Given the description of an element on the screen output the (x, y) to click on. 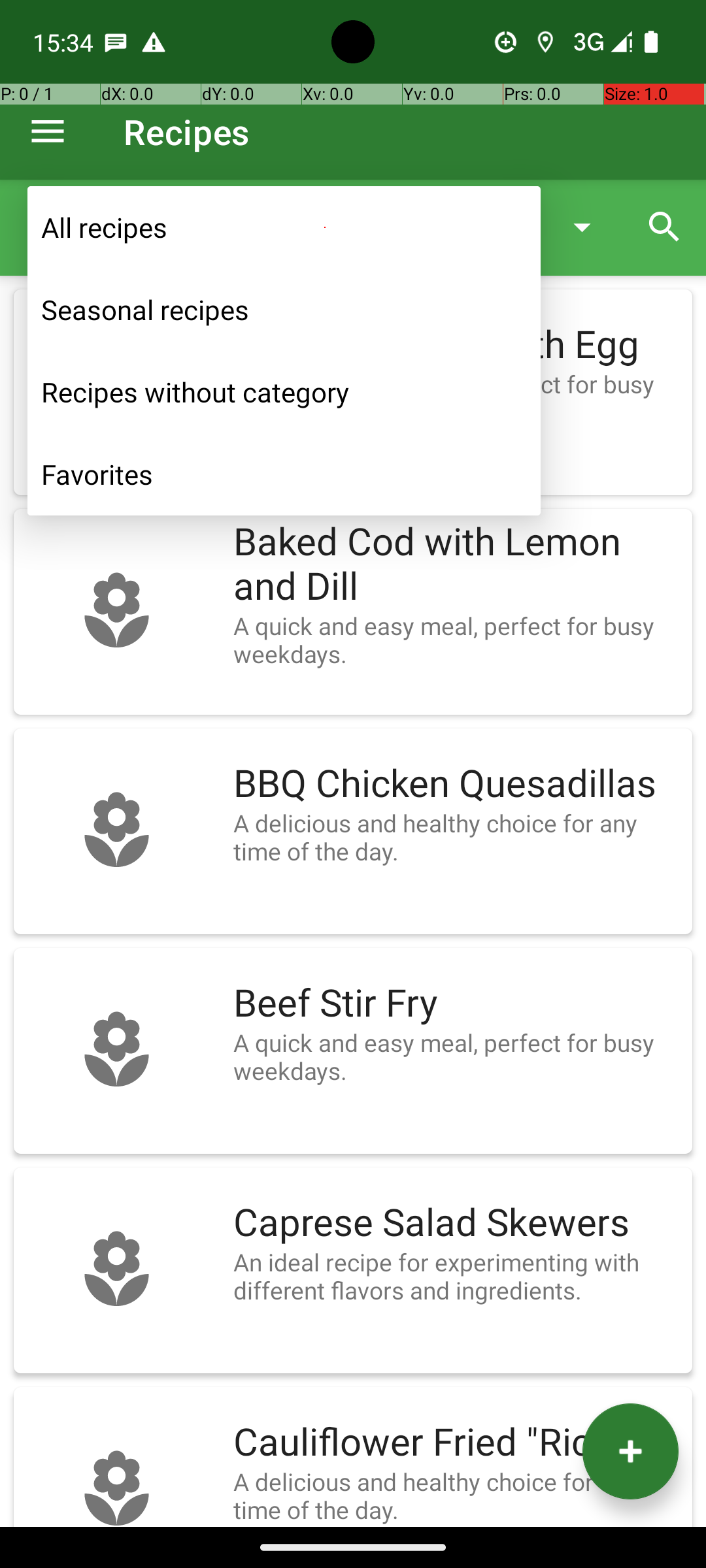
Seasonal recipes Element type: android.widget.CheckedTextView (283, 309)
Recipes without category Element type: android.widget.CheckedTextView (283, 391)
